Given the description of an element on the screen output the (x, y) to click on. 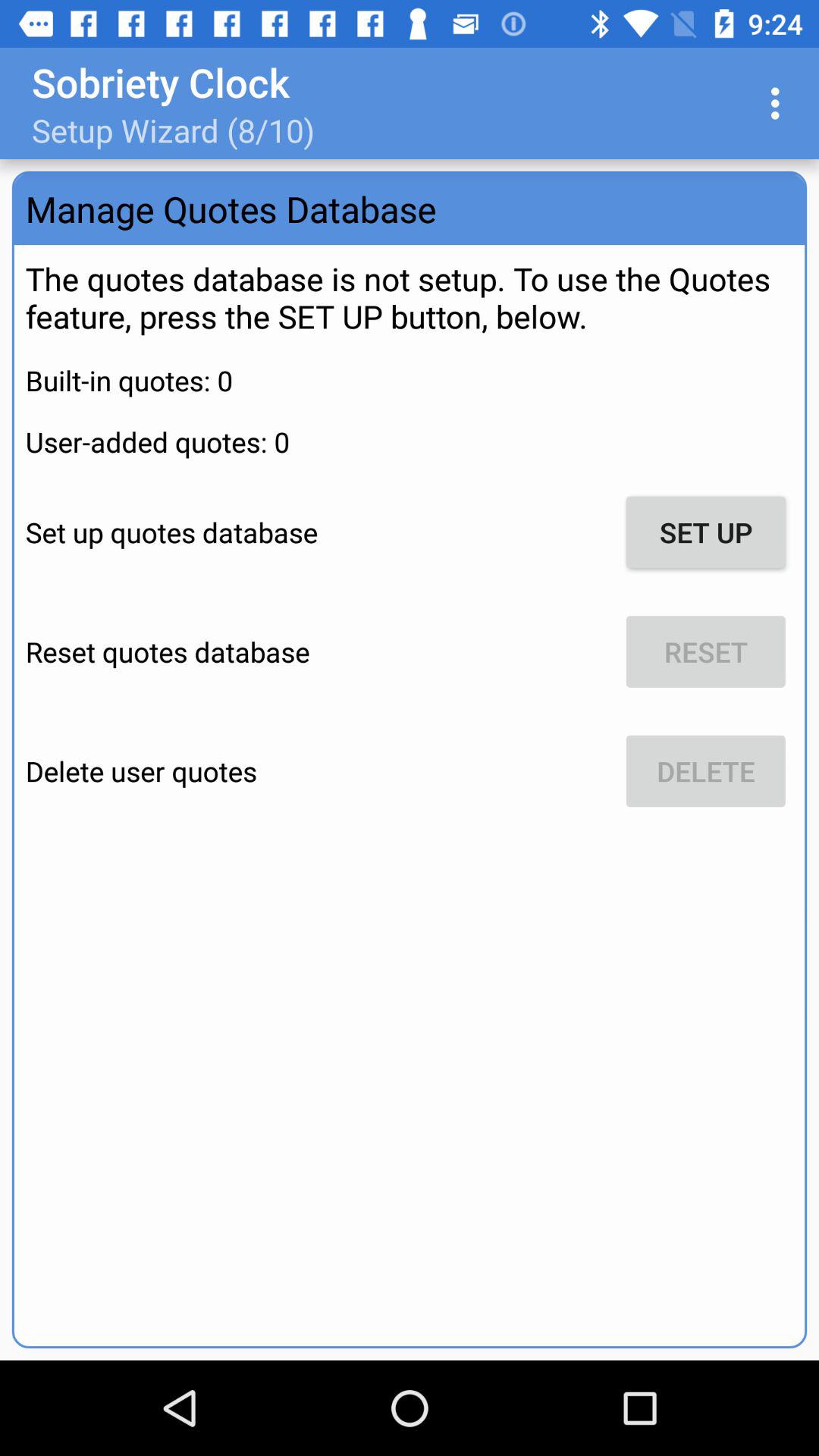
choose item at the top right corner (779, 103)
